Given the description of an element on the screen output the (x, y) to click on. 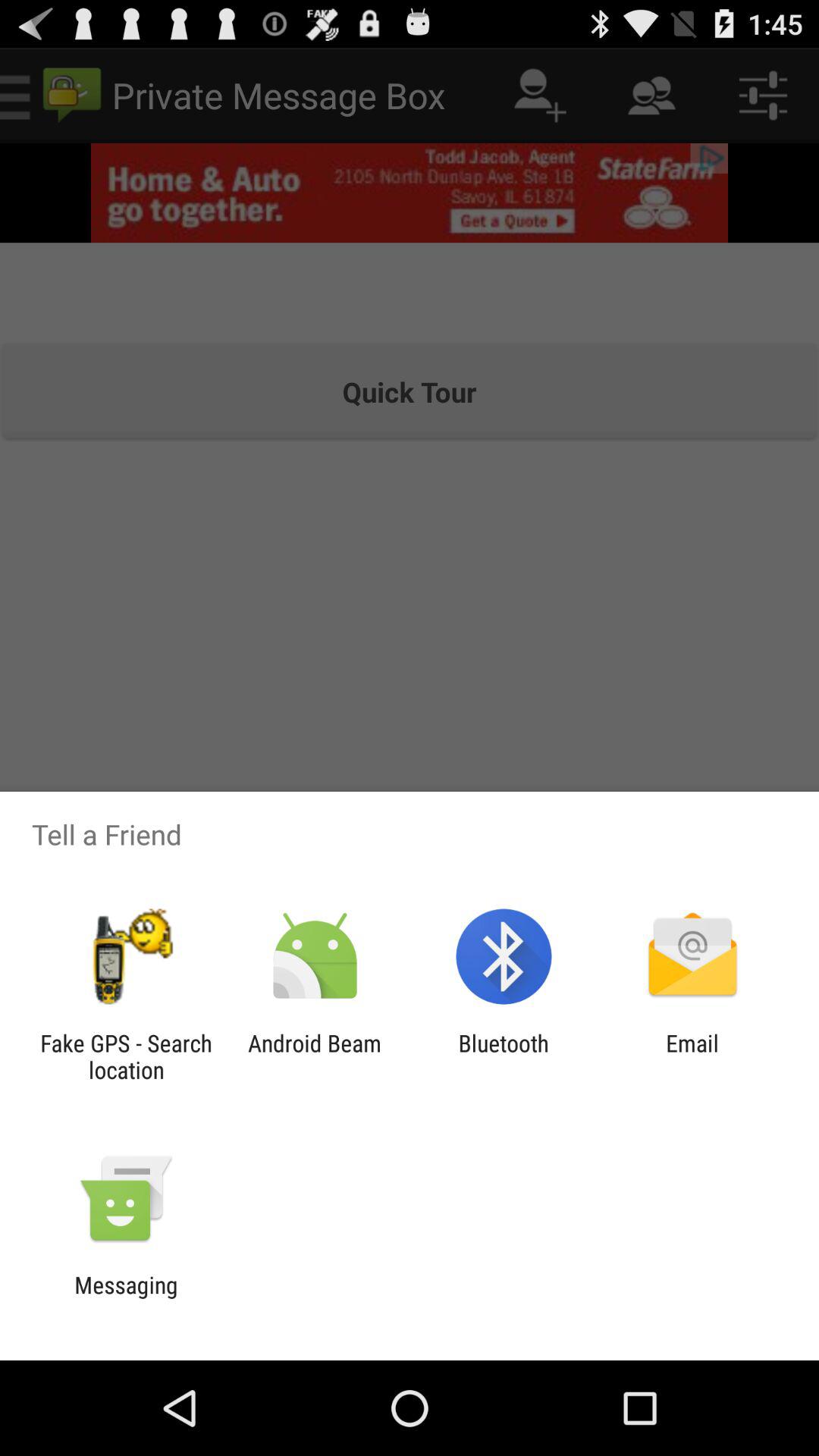
turn on icon next to the fake gps search item (314, 1056)
